Given the description of an element on the screen output the (x, y) to click on. 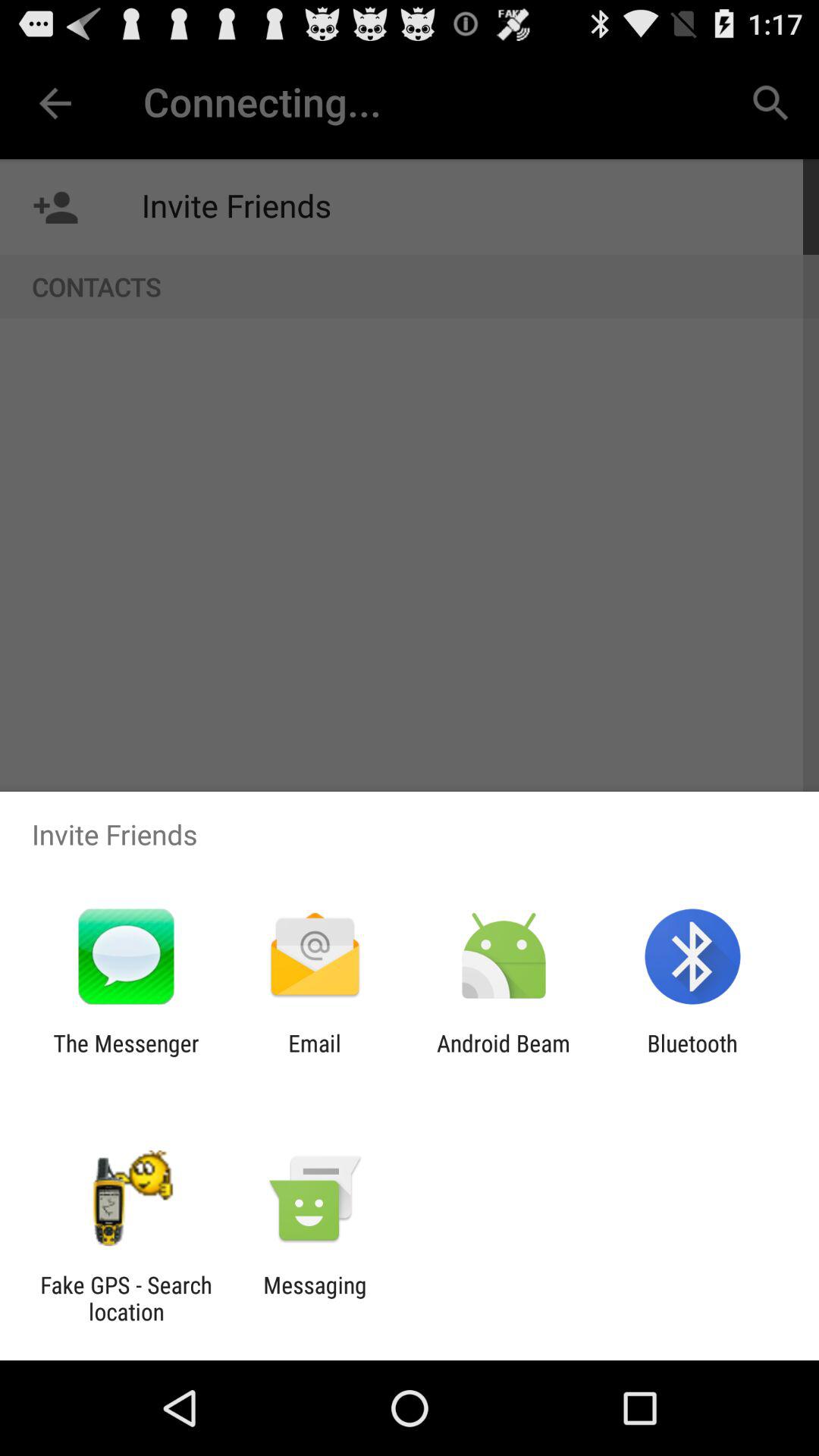
launch android beam app (503, 1056)
